Given the description of an element on the screen output the (x, y) to click on. 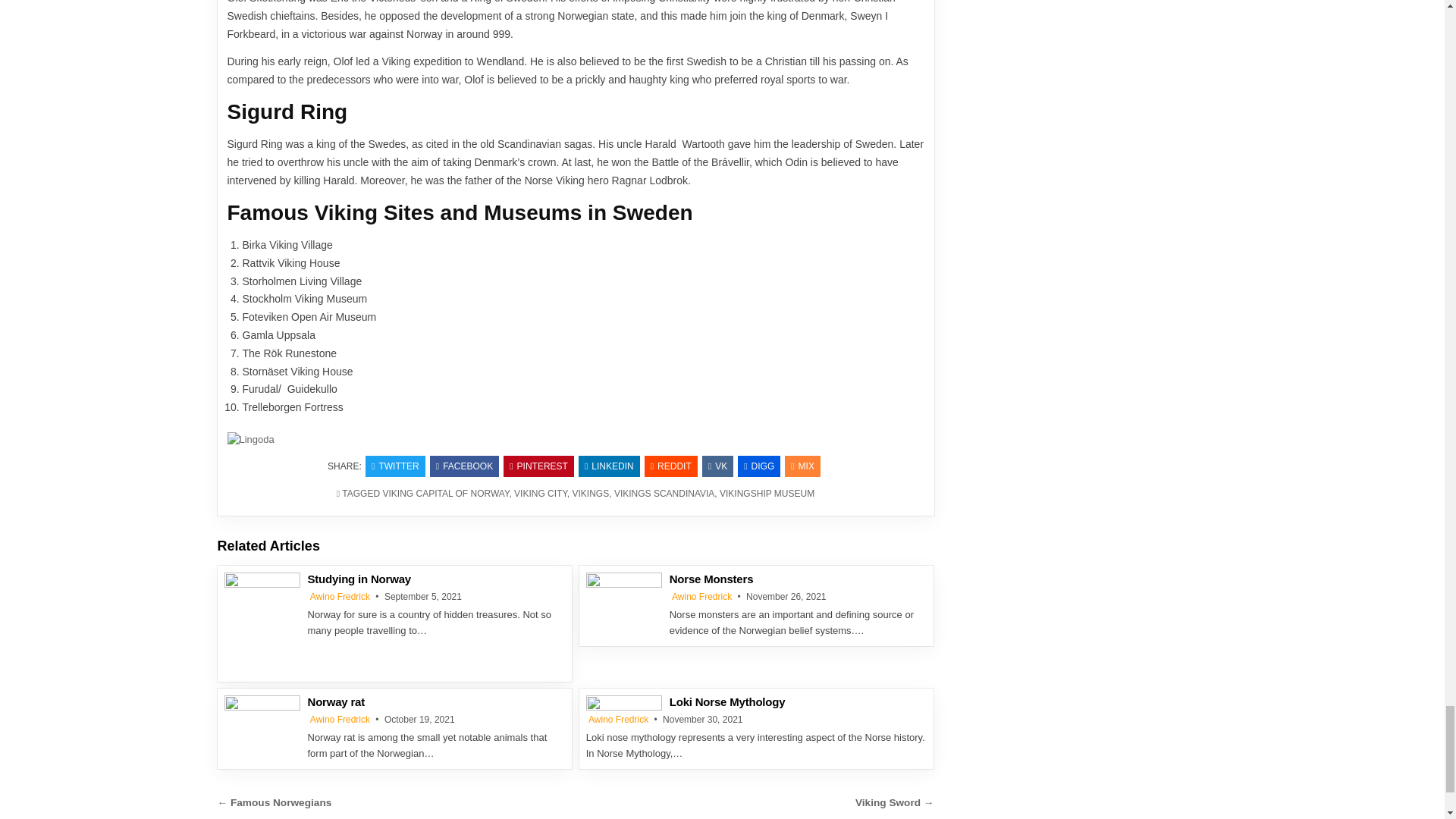
Permanent Link to Norway rat (261, 720)
Share this on Linkedin (609, 465)
Permanent Link to Norse Monsters (624, 599)
Share this on Digg (759, 465)
Tweet This! (395, 465)
Share this on Mix (802, 465)
Share this on Facebook (464, 465)
Share this on Reddit (671, 465)
Share this on VK (717, 465)
Share this on Pinterest (538, 465)
